Given the description of an element on the screen output the (x, y) to click on. 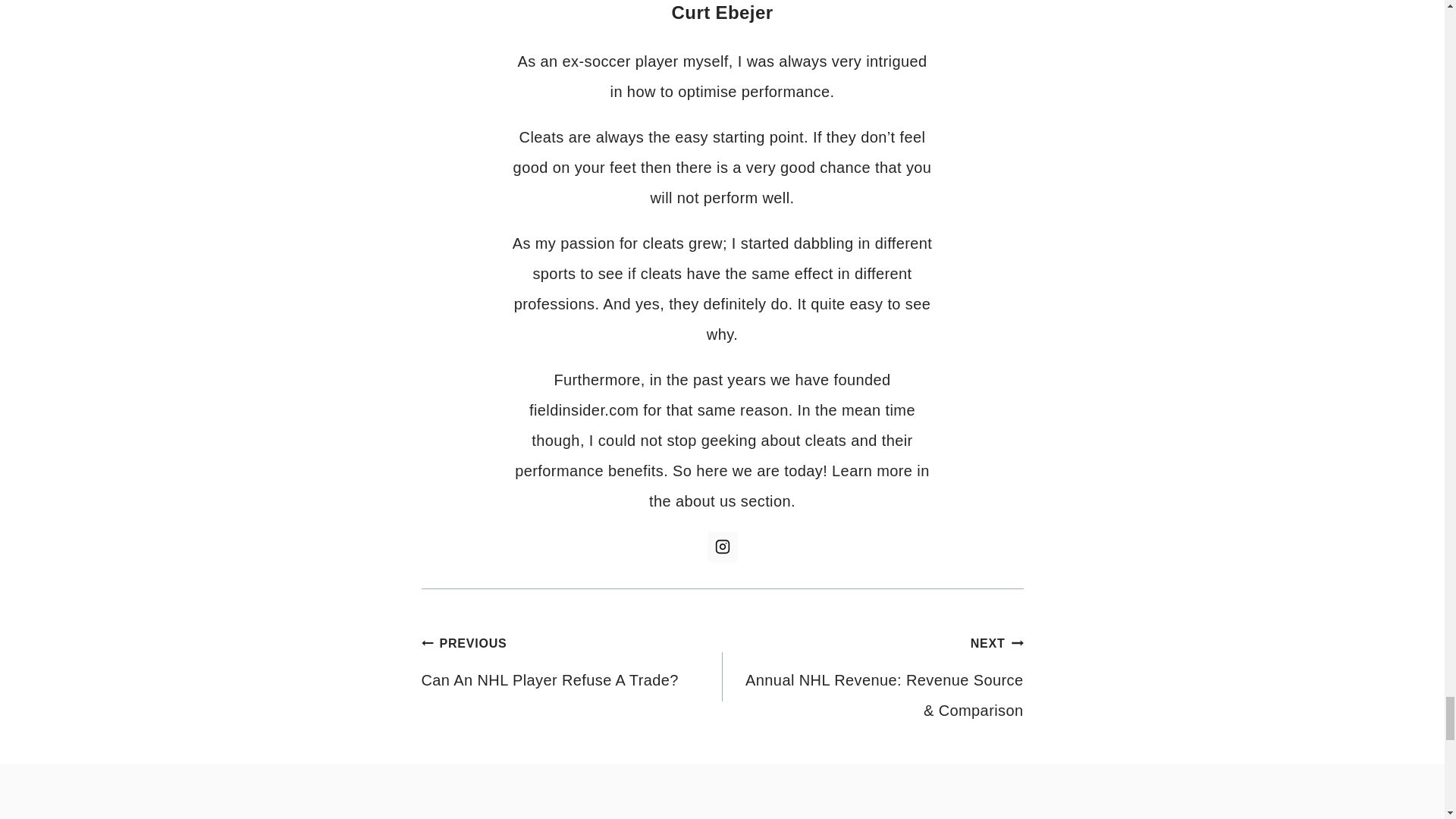
Follow Curt Ebejer on Instagram (721, 546)
Posts by Curt Ebejer (722, 12)
